Given the description of an element on the screen output the (x, y) to click on. 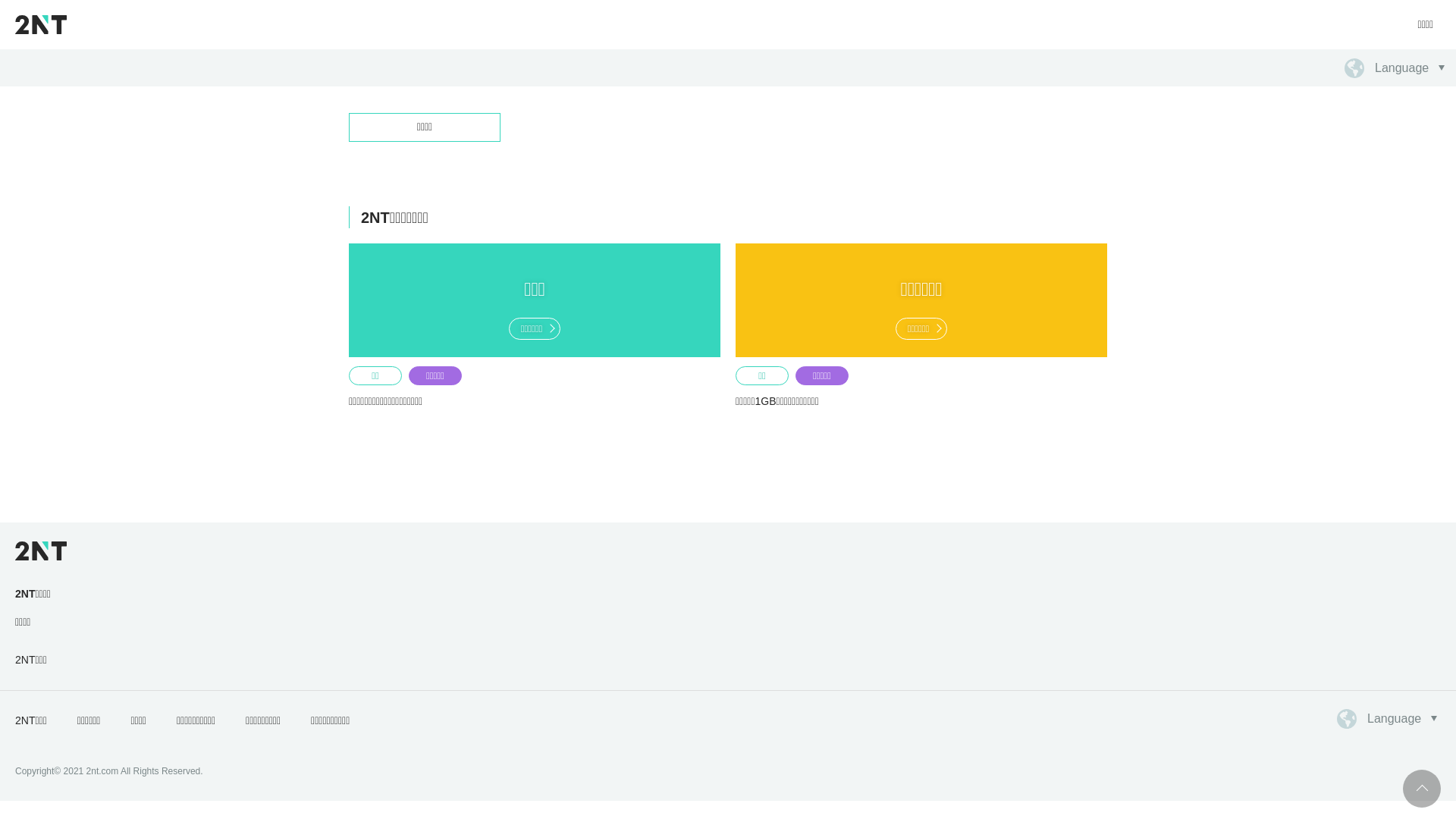
2NT Element type: hover (40, 24)
